Given the description of an element on the screen output the (x, y) to click on. 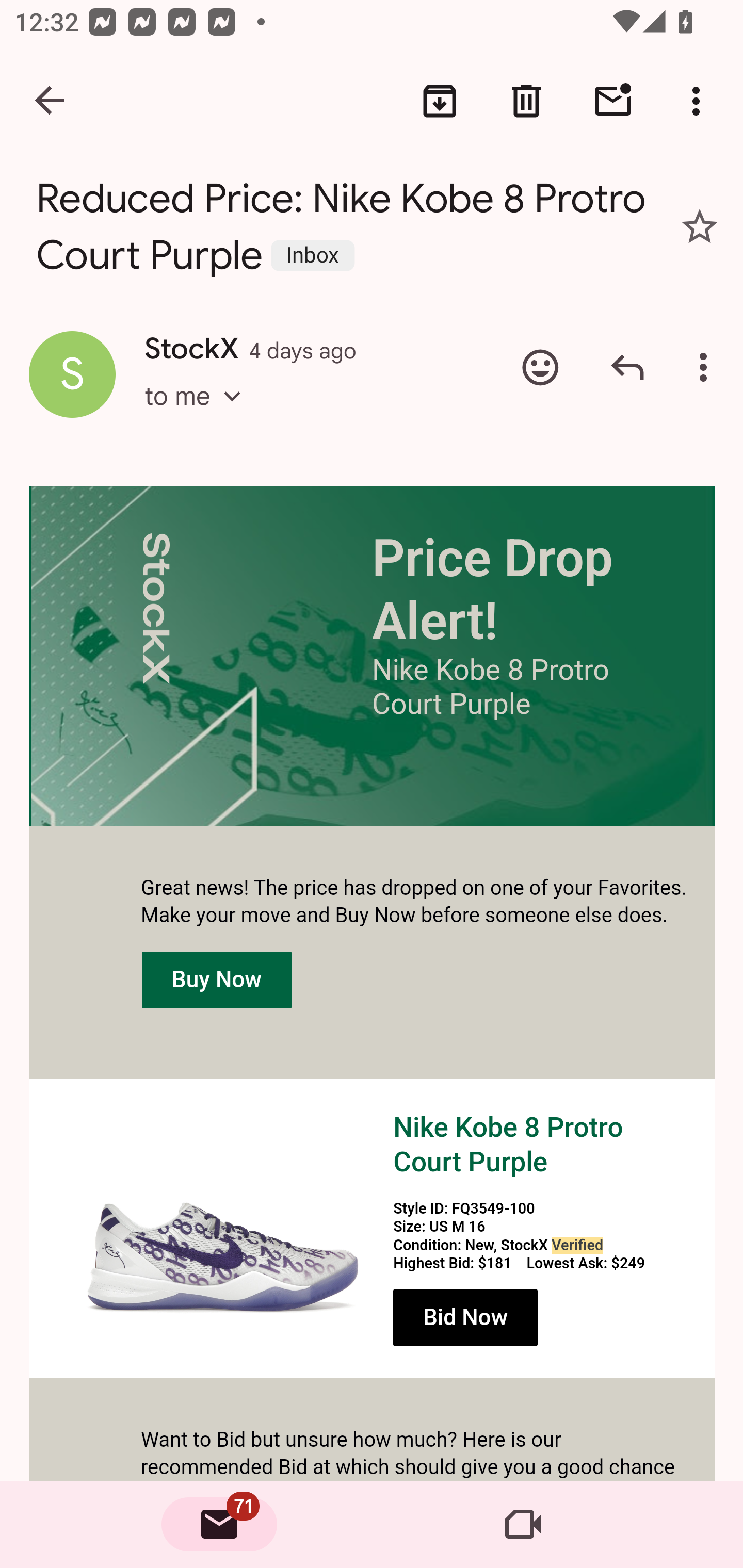
Navigate up (50, 101)
Archive (439, 101)
Delete (525, 101)
Mark unread (612, 101)
More options (699, 101)
Add star (699, 226)
Add emoji reaction (540, 367)
Reply (626, 367)
More options (706, 367)
Show contact information for StockX (71, 373)
to me (199, 414)
Meet (523, 1524)
